Given the description of an element on the screen output the (x, y) to click on. 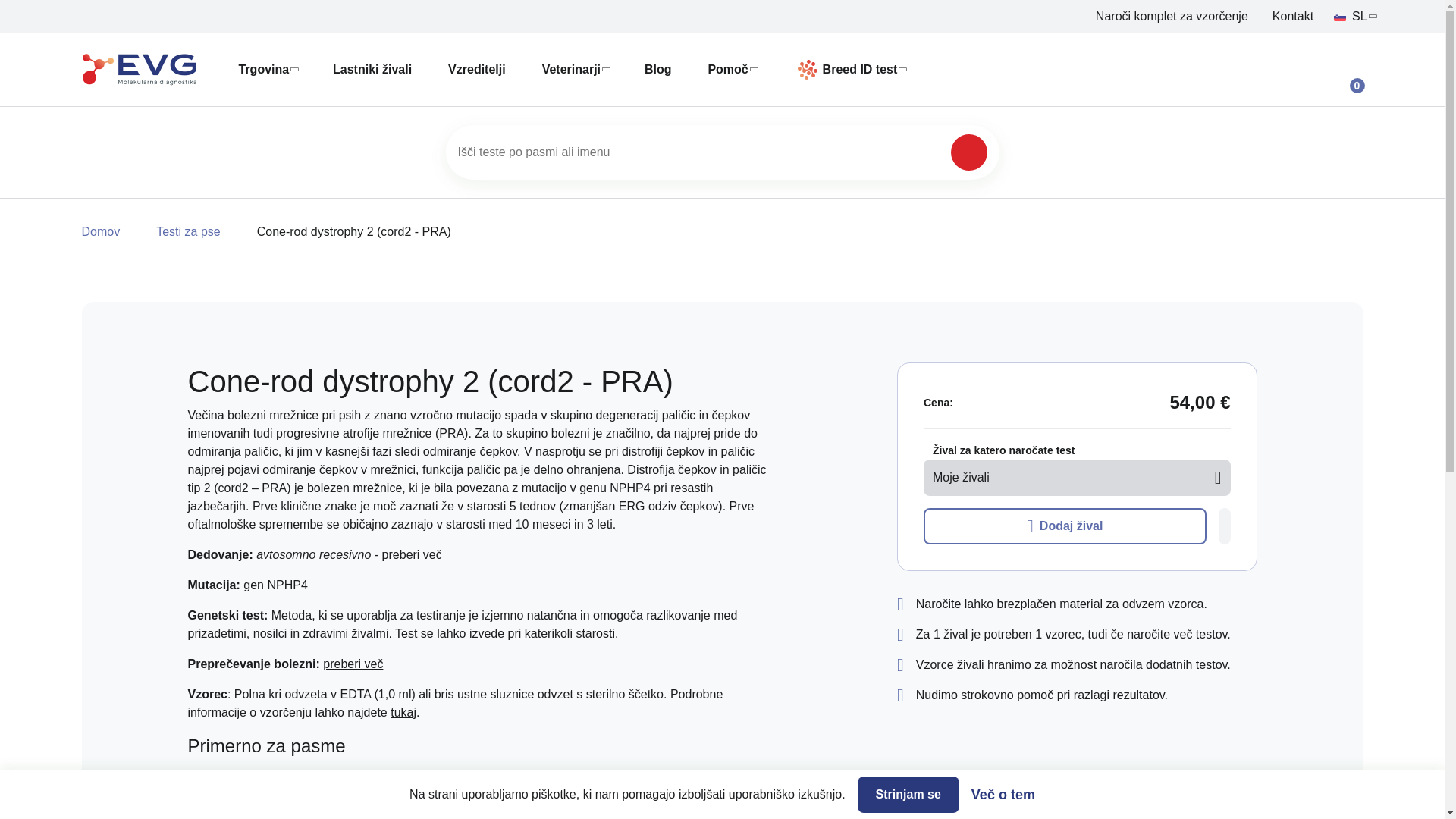
Language (1353, 16)
Trgovina (266, 69)
Strinjam se (908, 794)
Vzreditelji (477, 69)
Veterinarji (574, 69)
Blog (658, 69)
Breed ID test (848, 69)
Kontakt (1292, 15)
SL (1353, 16)
Trgovina (266, 69)
